Given the description of an element on the screen output the (x, y) to click on. 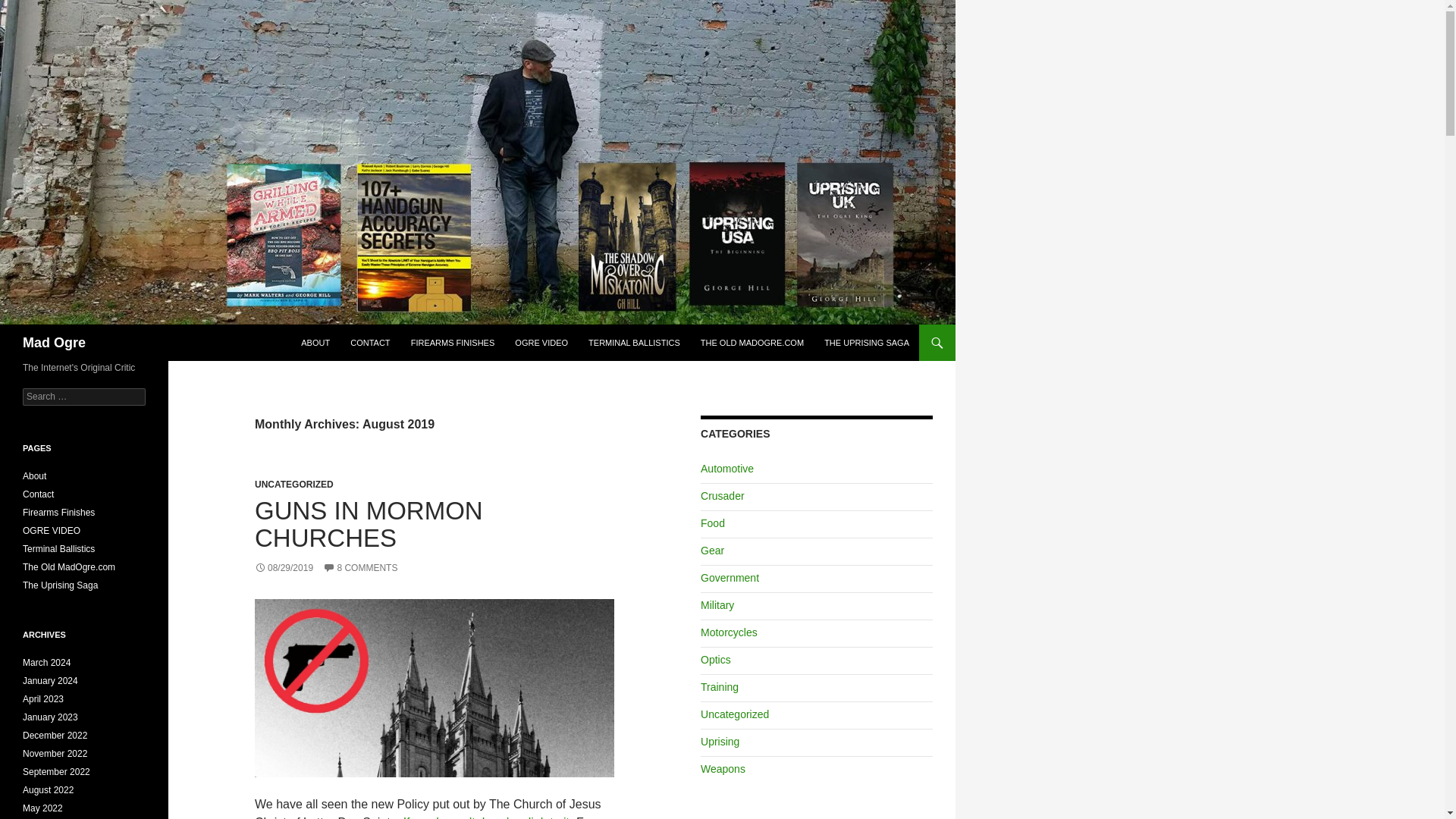
FIREARMS FINISHES (452, 342)
Mad Ogre (54, 342)
CONTACT (369, 342)
GUNS IN MORMON CHURCHES (368, 524)
THE OLD MADOGRE.COM (751, 342)
THE UPRISING SAGA (866, 342)
OGRE VIDEO (540, 342)
ABOUT (315, 342)
UNCATEGORIZED (293, 484)
